Given the description of an element on the screen output the (x, y) to click on. 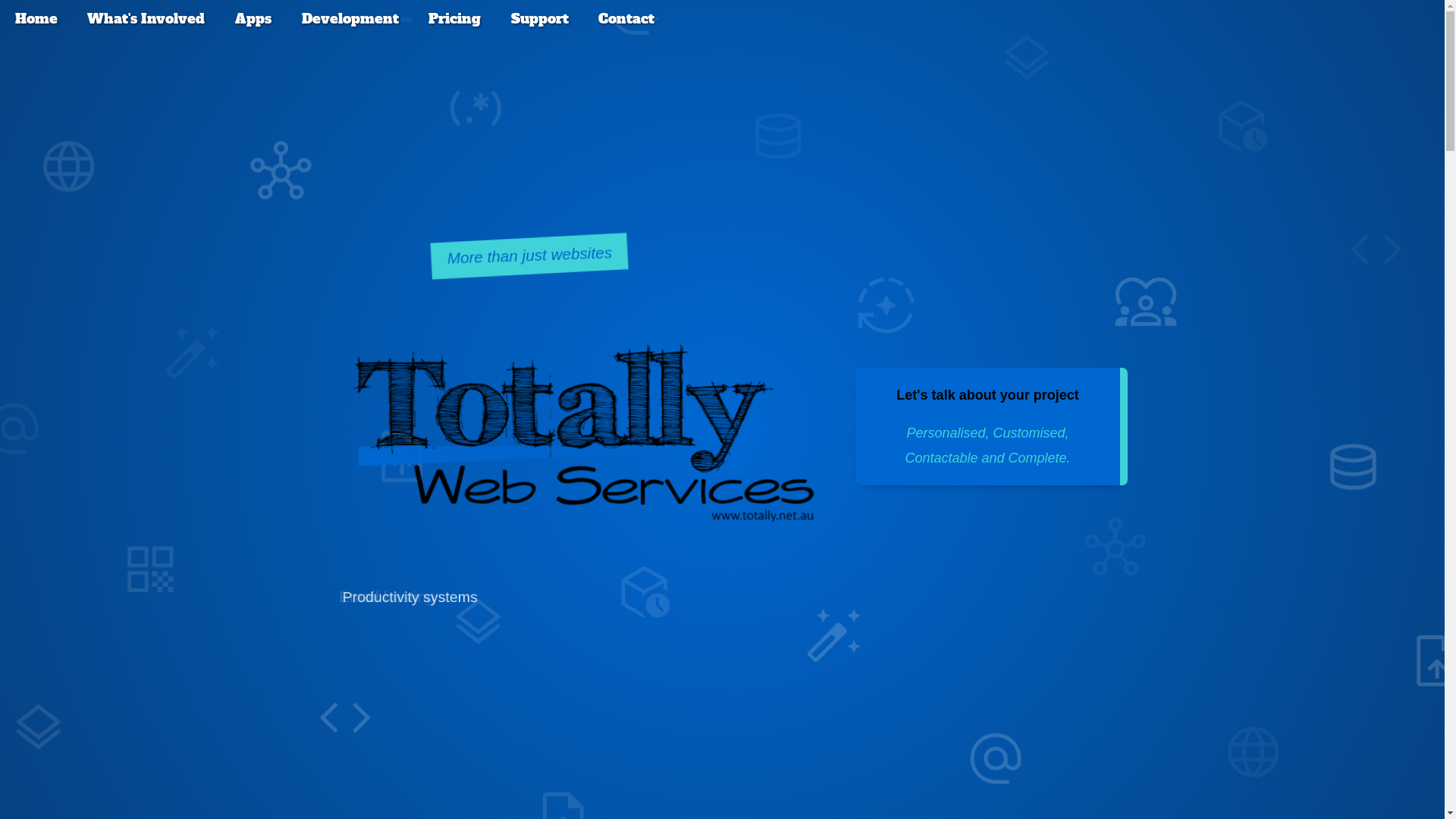
What'S Involved Element type: text (145, 18)
Pricing Element type: text (454, 18)
Home Element type: text (36, 18)
Development Element type: text (349, 18)
Apps Element type: text (253, 18)
Support Element type: text (539, 18)
Contact Element type: text (626, 18)
